Given the description of an element on the screen output the (x, y) to click on. 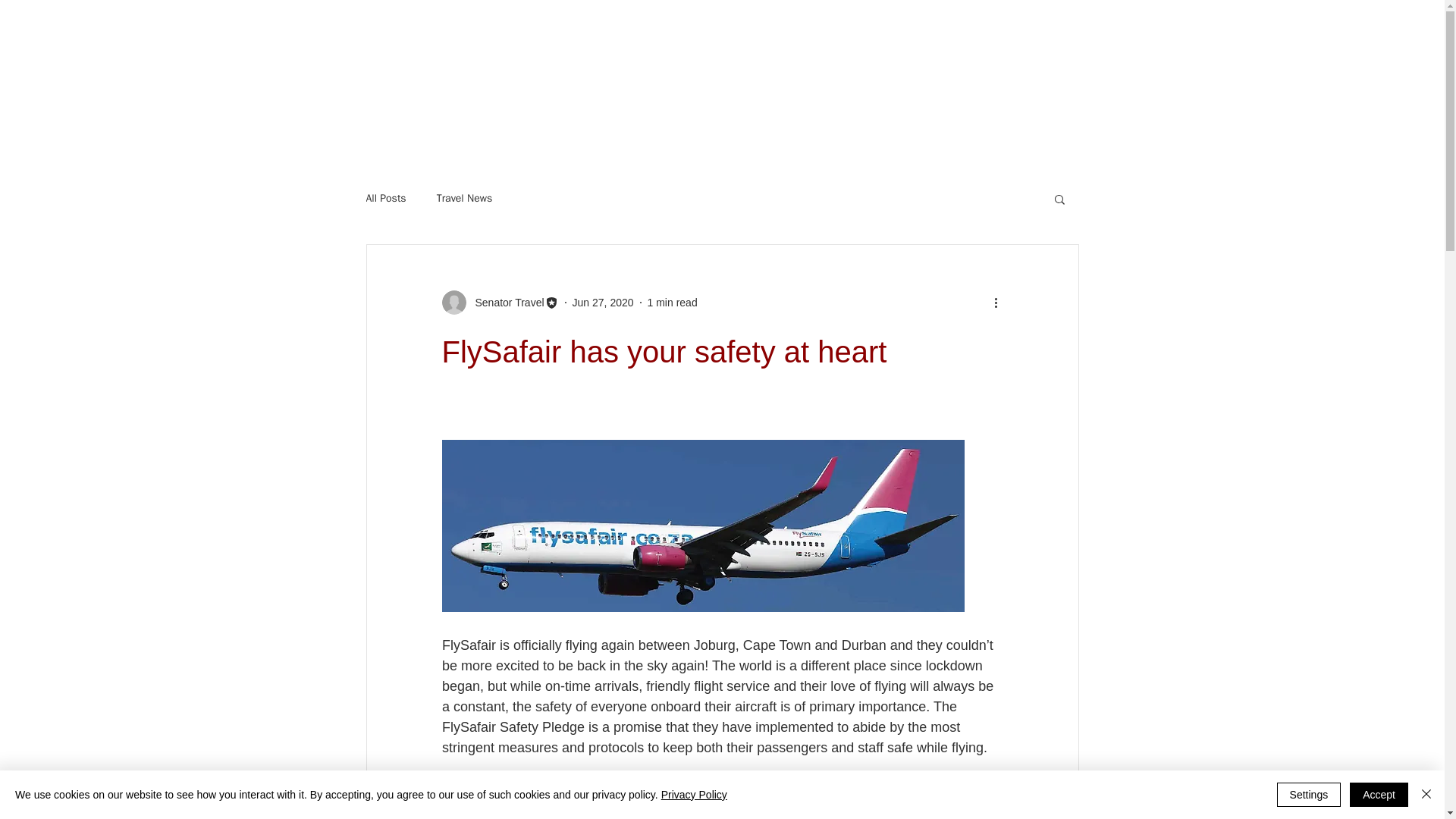
Accept (1378, 794)
1 min read (672, 301)
Senator Travel (504, 302)
Jun 27, 2020 (602, 301)
Privacy Policy (693, 794)
Settings (1308, 794)
Travel News (464, 198)
All Posts (385, 198)
